Given the description of an element on the screen output the (x, y) to click on. 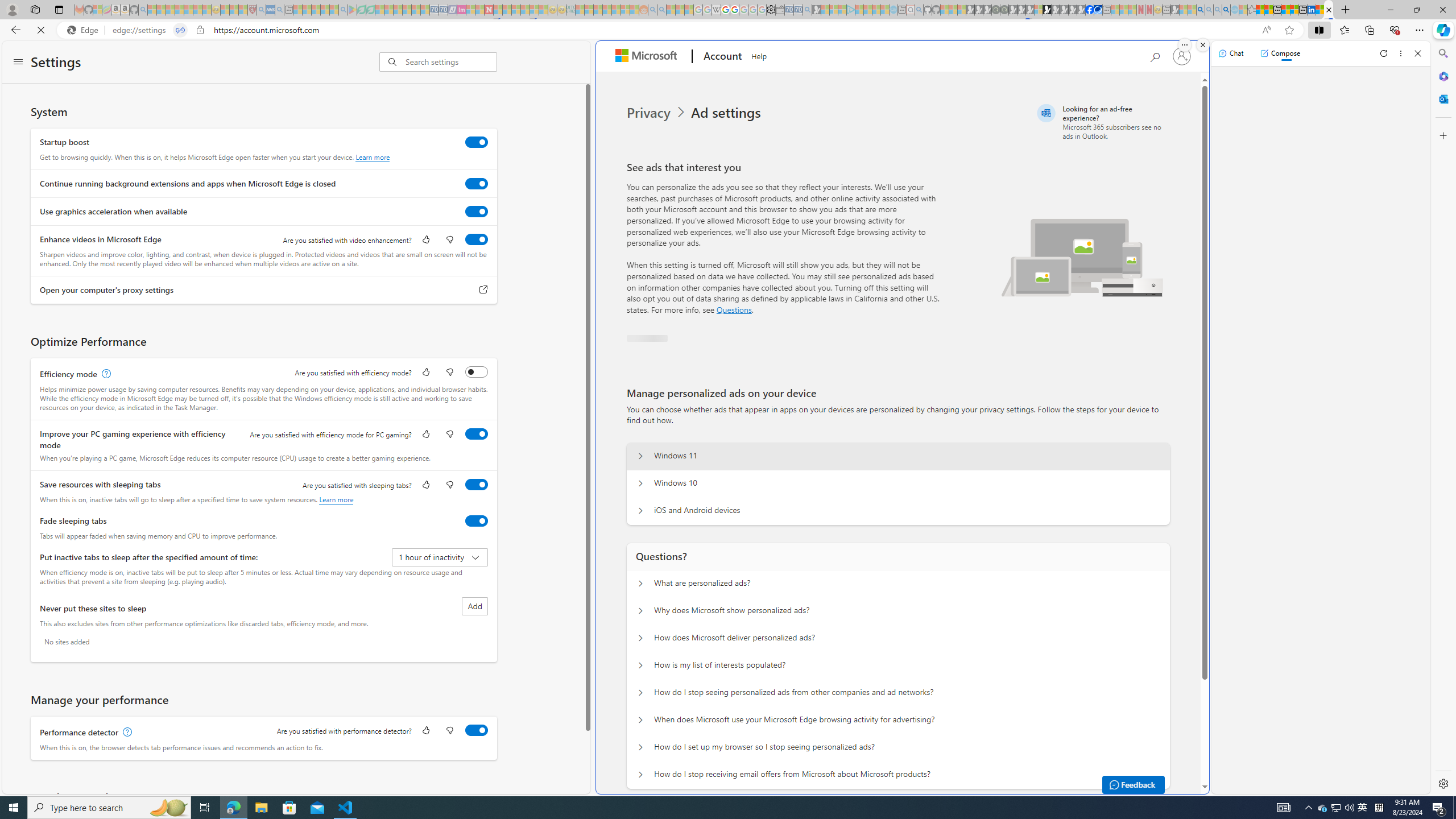
Improve your PC gaming experience with efficiency mode (476, 433)
Utah sues federal government - Search - Sleeping (661, 9)
Aberdeen, Hong Kong SAR weather forecast | Microsoft Weather (1268, 9)
More options. (1183, 45)
Bing Real Estate - Home sales and rental listings - Sleeping (806, 9)
